Given the description of an element on the screen output the (x, y) to click on. 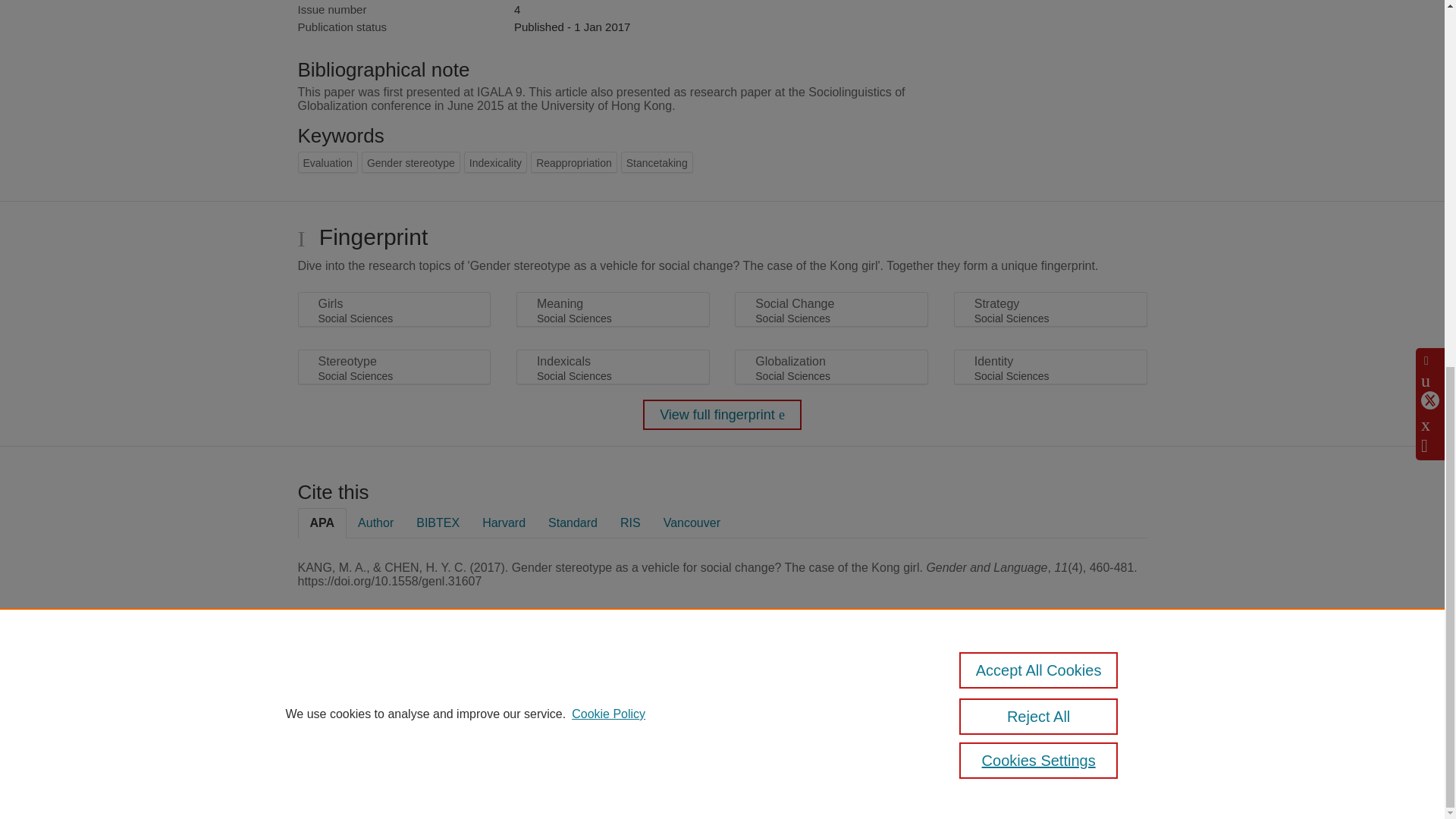
View full fingerprint (722, 414)
